Given the description of an element on the screen output the (x, y) to click on. 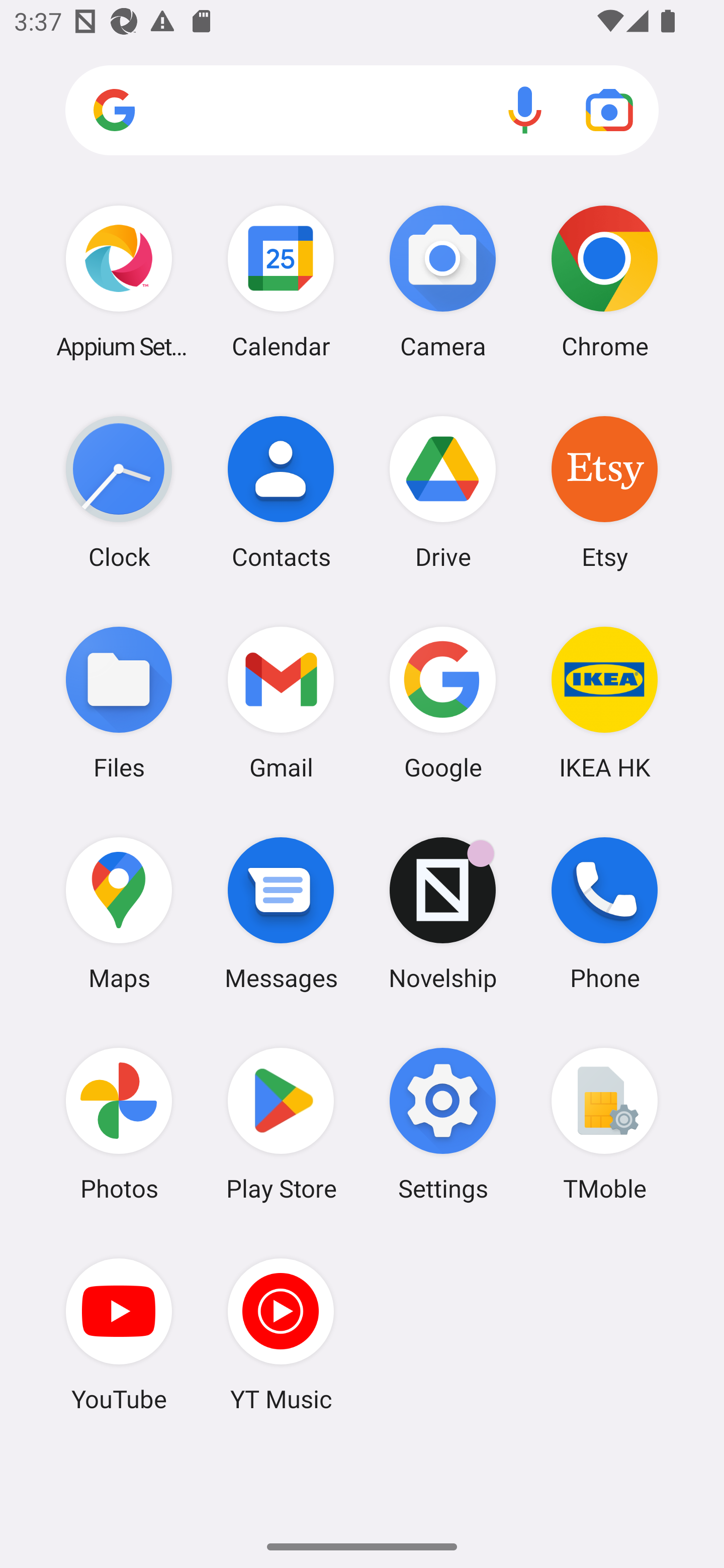
Search apps, web and more (361, 110)
Voice search (524, 109)
Google Lens (608, 109)
Appium Settings (118, 281)
Calendar (280, 281)
Camera (443, 281)
Chrome (604, 281)
Clock (118, 492)
Contacts (280, 492)
Drive (443, 492)
Etsy (604, 492)
Files (118, 702)
Gmail (280, 702)
Google (443, 702)
IKEA HK (604, 702)
Maps (118, 913)
Messages (280, 913)
Novelship Novelship has 5 notifications (443, 913)
Phone (604, 913)
Photos (118, 1124)
Play Store (280, 1124)
Settings (443, 1124)
TMoble (604, 1124)
YouTube (118, 1334)
YT Music (280, 1334)
